Given the description of an element on the screen output the (x, y) to click on. 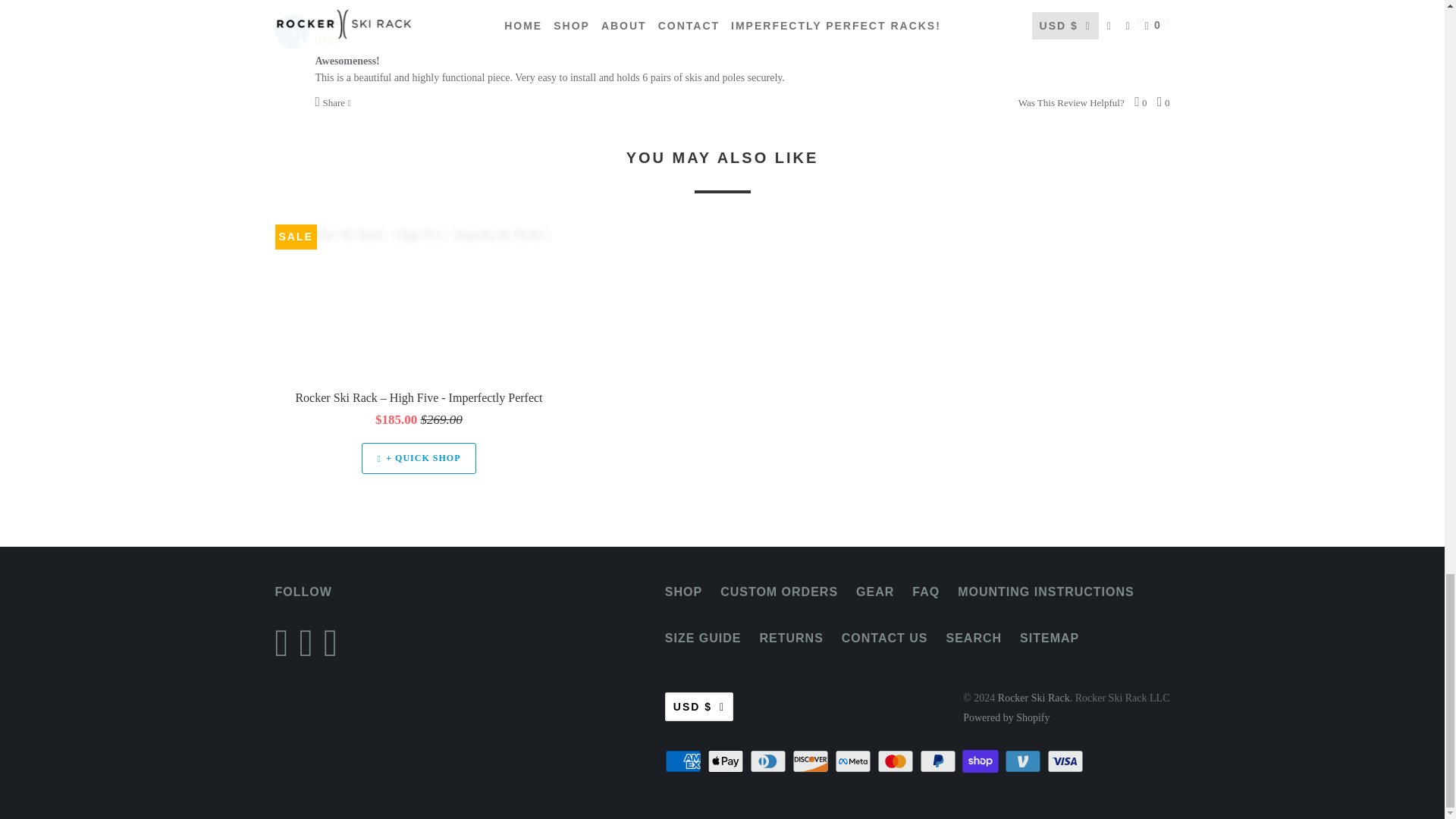
Mastercard (897, 761)
Apple Pay (726, 761)
PayPal (939, 761)
Venmo (1023, 761)
Shop Pay (981, 761)
Diners Club (769, 761)
Visa (1066, 761)
Discover (811, 761)
Meta Pay (854, 761)
American Express (684, 761)
